Given the description of an element on the screen output the (x, y) to click on. 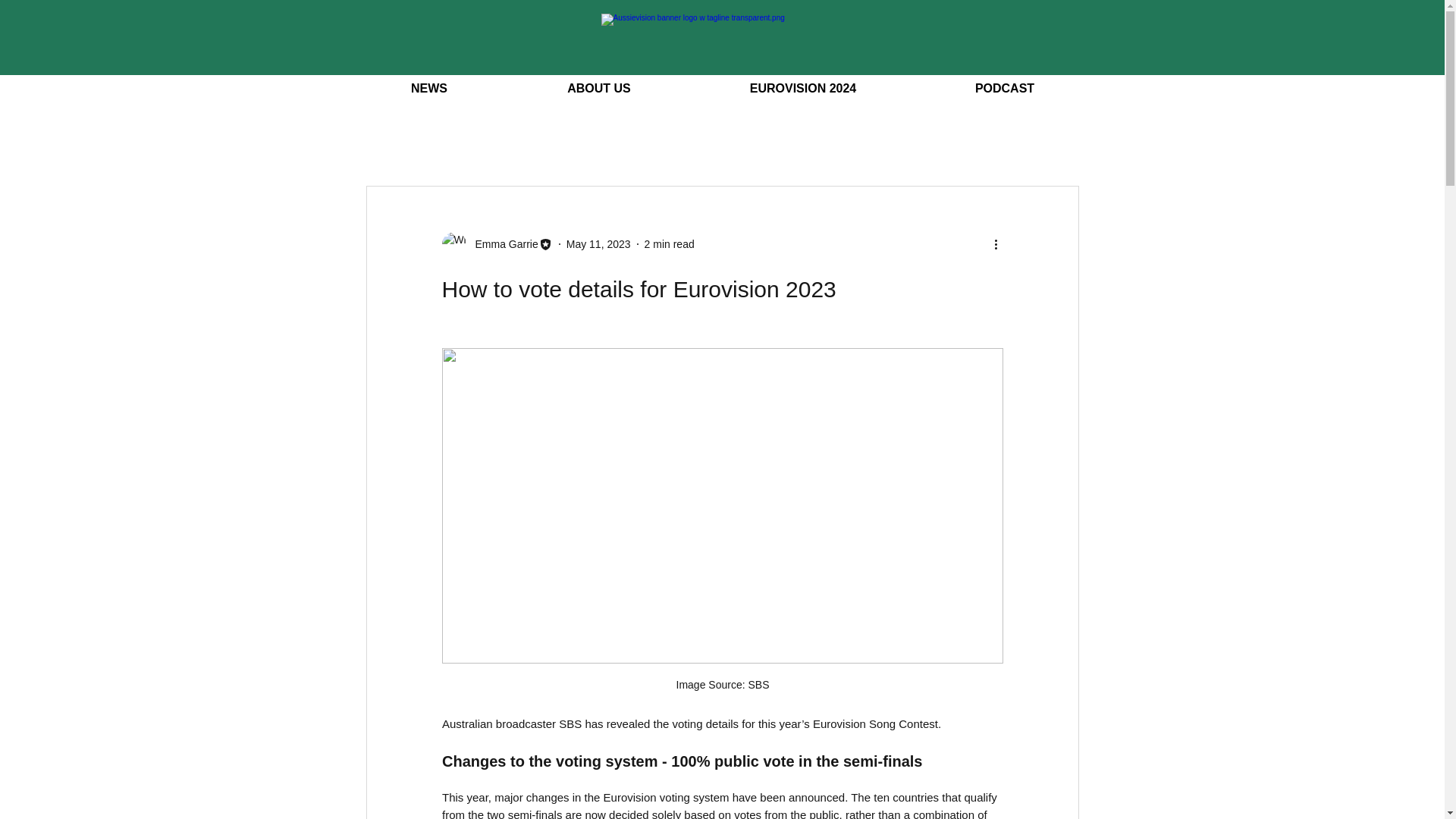
Emma Garrie (501, 244)
NEWS (428, 88)
ABOUT US (599, 88)
May 11, 2023 (598, 244)
PODCAST (1004, 88)
EUROVISION 2024 (802, 88)
2 min read (669, 244)
